Given the description of an element on the screen output the (x, y) to click on. 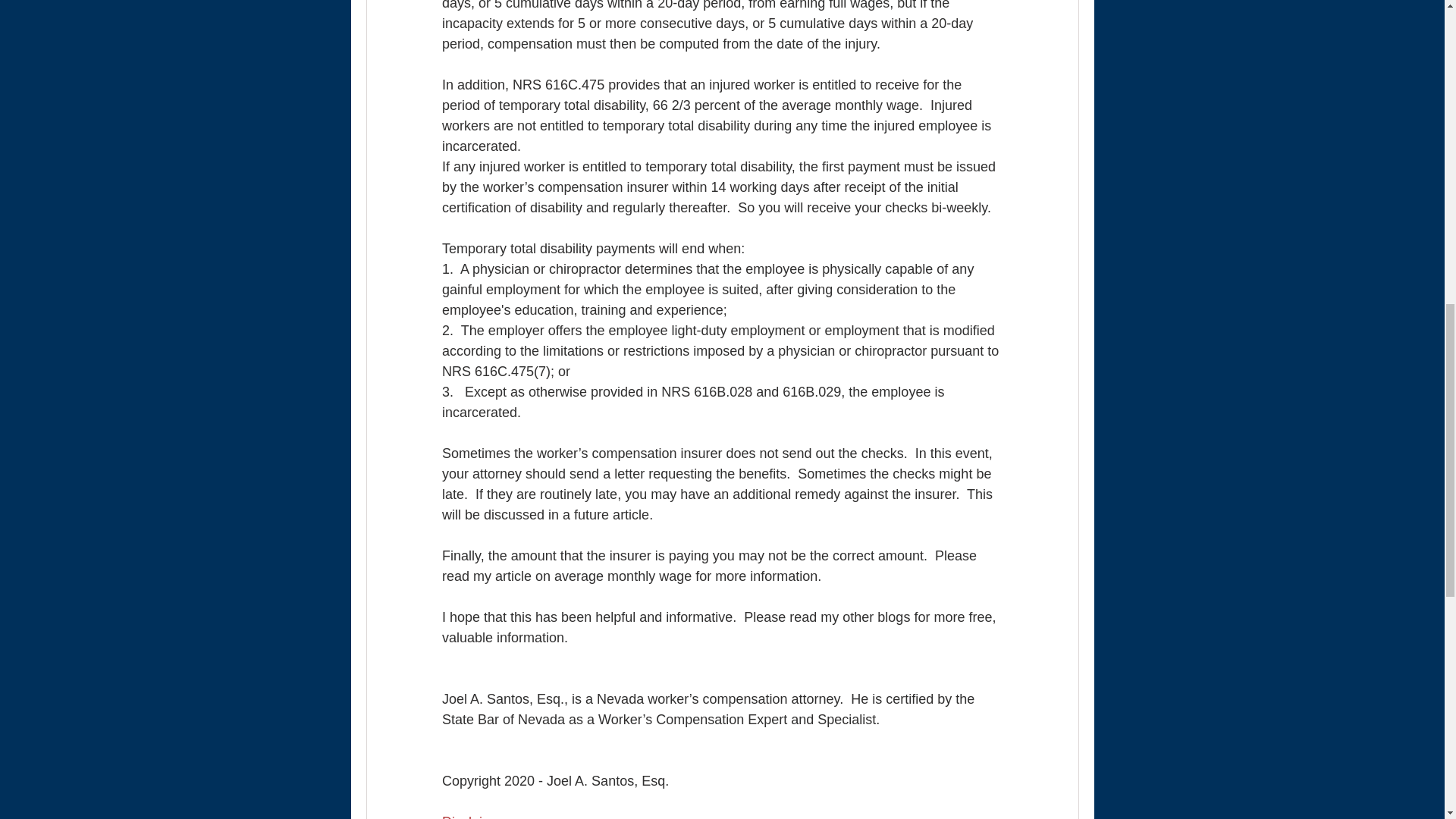
Disclaimer (473, 816)
